Given the description of an element on the screen output the (x, y) to click on. 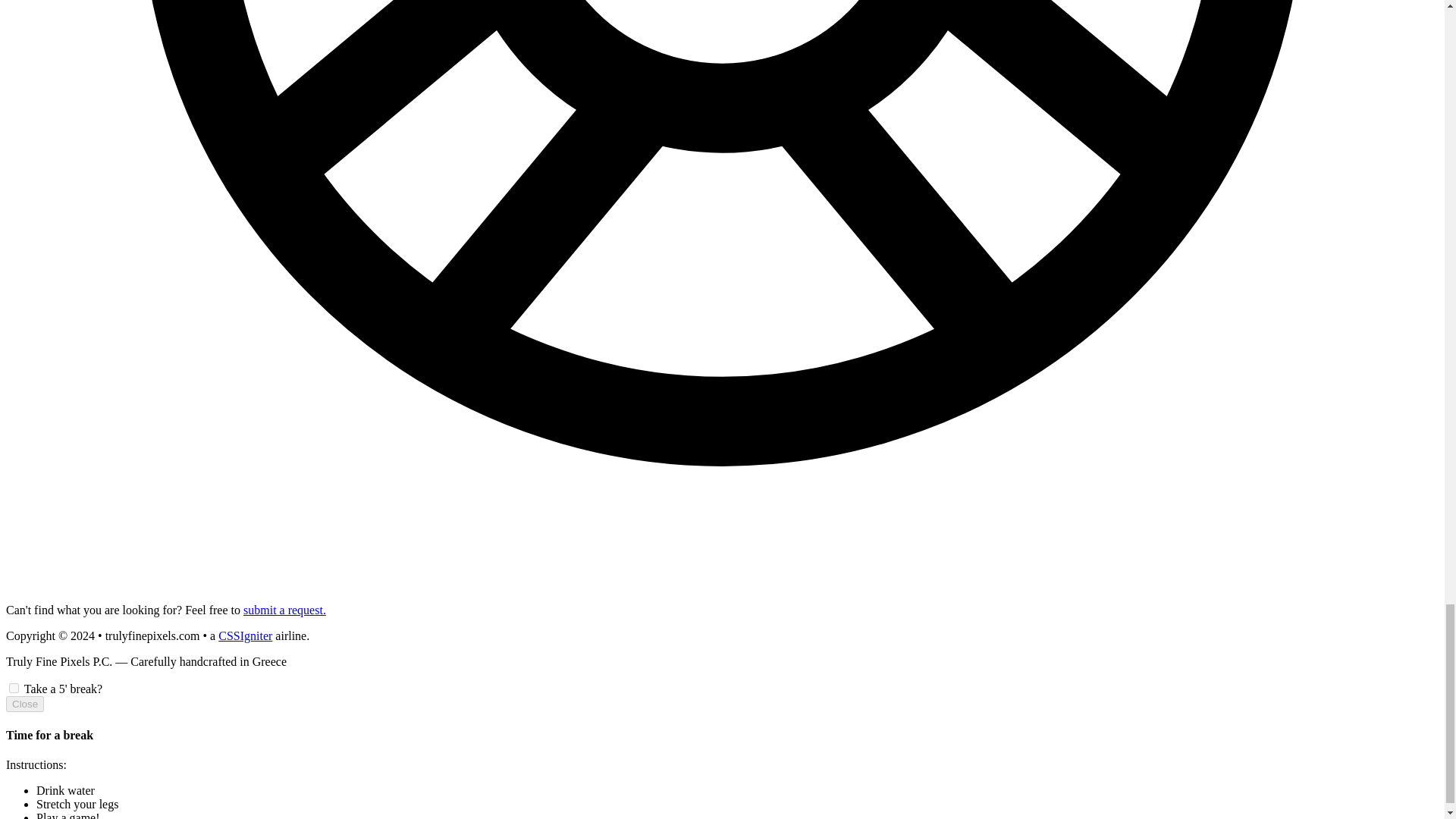
Close (24, 703)
submit a request. (284, 609)
CSSIgniter (245, 635)
on (13, 687)
